Given the description of an element on the screen output the (x, y) to click on. 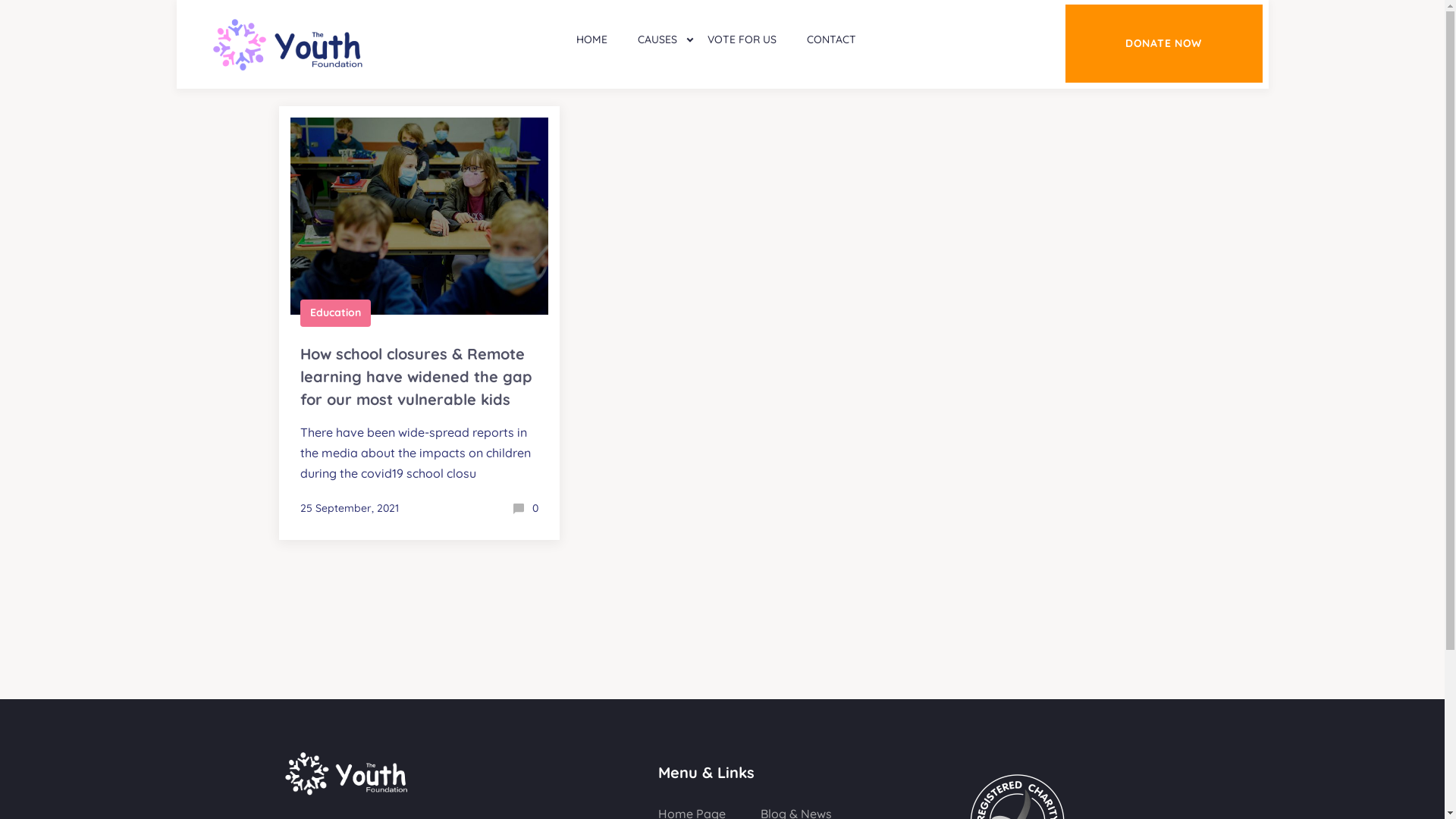
CONTACT Element type: text (831, 40)
DONATE NOW Element type: text (1162, 43)
VOTE FOR US Element type: text (741, 40)
HOME Element type: text (591, 40)
CAUSES Element type: text (657, 40)
